Given the description of an element on the screen output the (x, y) to click on. 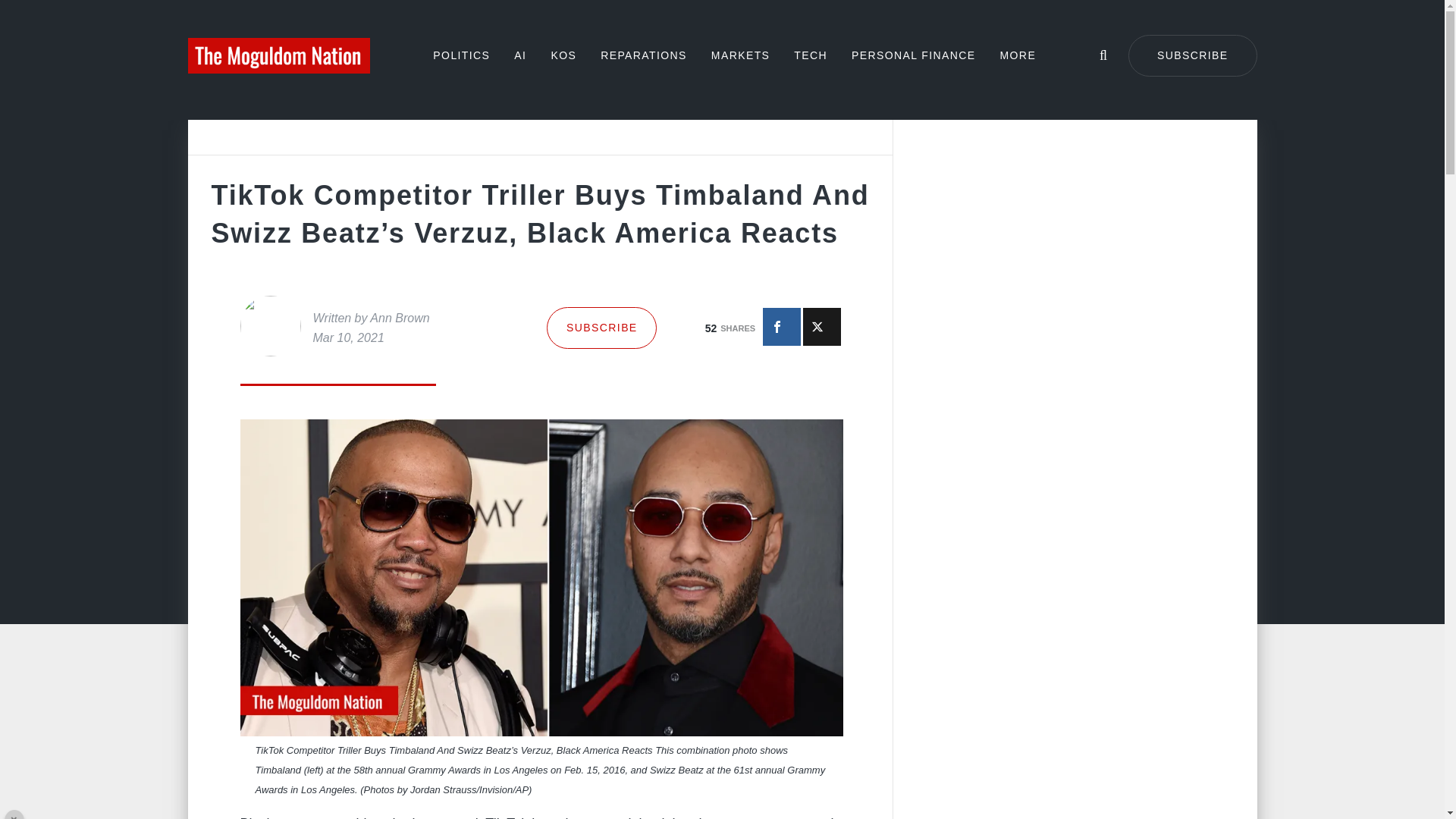
TECH (810, 55)
SUBSCRIBE (1192, 55)
SUBSCRIBE (601, 327)
MORE (1018, 55)
REPARATIONS (643, 55)
POLITICS (460, 55)
KOS (563, 55)
MARKETS (740, 55)
SHARE (781, 326)
PERSONAL FINANCE (913, 55)
